Given the description of an element on the screen output the (x, y) to click on. 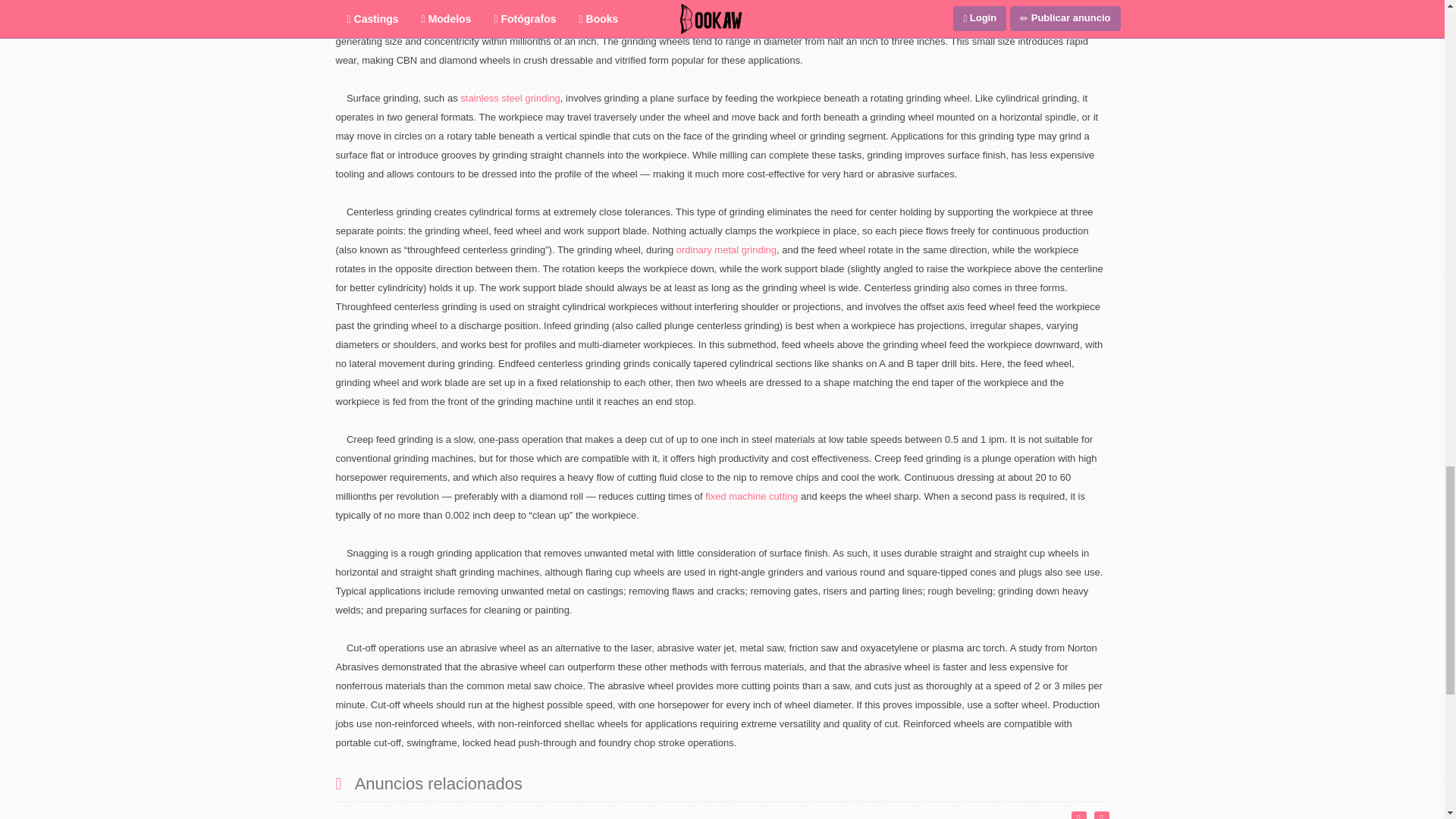
stainless steel grinding (510, 98)
fixed machine cutting (752, 496)
ordinary metal grinding (726, 249)
